Given the description of an element on the screen output the (x, y) to click on. 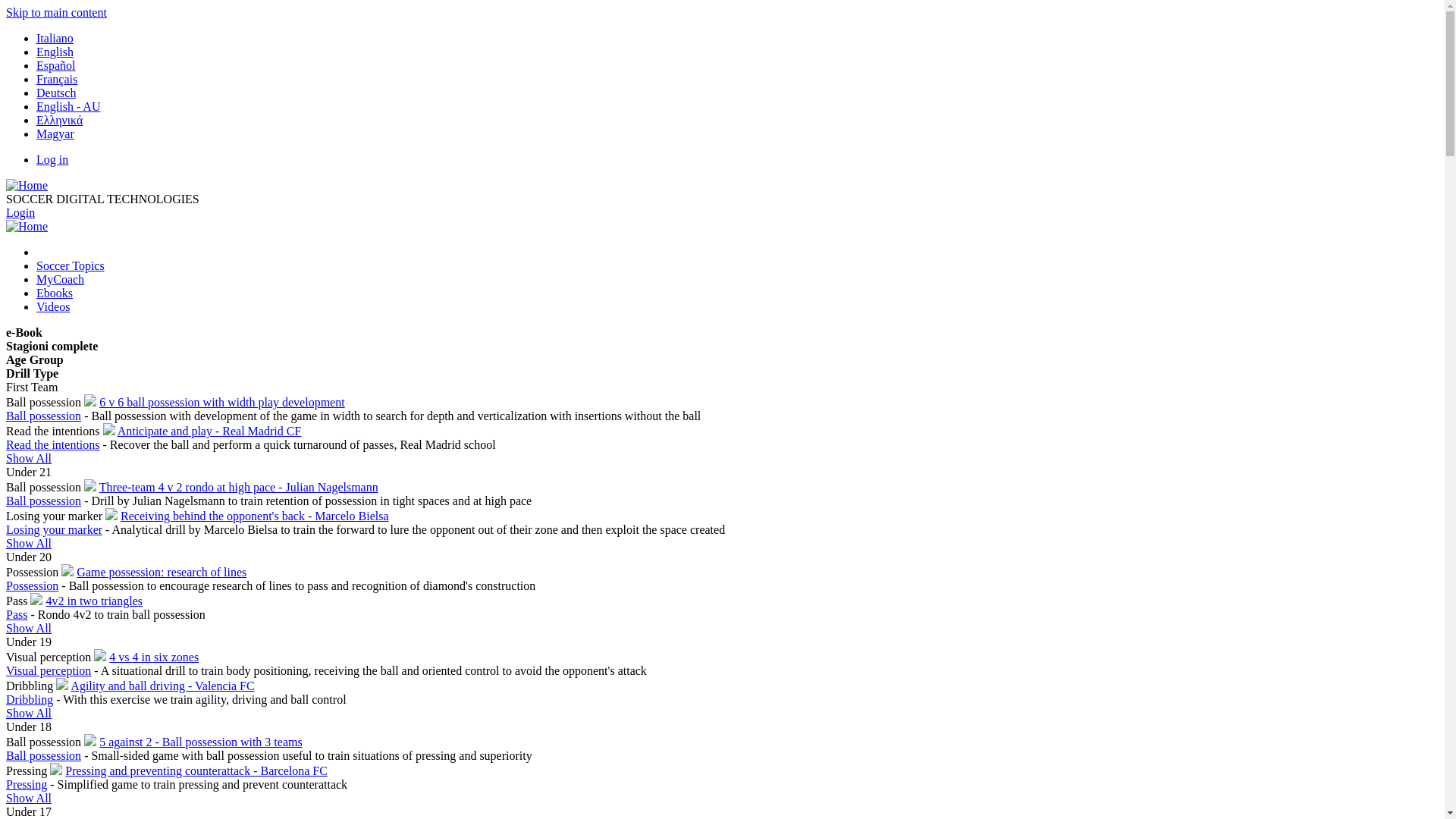
Game possession: research of lines Element type: text (161, 571)
Ball possession Element type: text (43, 755)
4 vs 4 in six zones Element type: text (153, 656)
Pressing Element type: text (26, 784)
Read the intentions Element type: text (53, 444)
Show All Element type: text (28, 797)
English Element type: text (54, 51)
Pass Element type: text (16, 614)
6 v 6 ball possession with width play development Element type: text (222, 401)
MyCoach Element type: text (60, 279)
Home Element type: hover (26, 184)
Home Element type: hover (26, 225)
Three-team 4 v 2 rondo at high pace - Julian Nagelsmann Element type: text (238, 486)
Agility and ball driving - Valencia FC Element type: text (162, 685)
Ball possession Element type: text (43, 500)
Magyar Element type: text (55, 133)
Visual perception Element type: text (48, 670)
Possession Element type: text (32, 585)
Ball possession Element type: text (43, 415)
4v2 in two triangles Element type: text (93, 600)
English - AU Element type: text (68, 106)
Login Element type: text (20, 212)
Videos Element type: text (52, 306)
Pressing and preventing counterattack - Barcelona FC Element type: text (196, 770)
Deutsch Element type: text (55, 92)
Show All Element type: text (28, 542)
Dribbling Element type: text (29, 699)
Losing your marker Element type: text (54, 529)
Receiving behind the opponent's back - Marcelo Bielsa Element type: text (254, 515)
Ebooks Element type: text (54, 292)
Soccer Topics Element type: text (70, 265)
Anticipate and play - Real Madrid CF Element type: text (209, 430)
Show All Element type: text (28, 627)
5 against 2 - Ball possession with 3 teams Element type: text (200, 741)
Skip to main content Element type: text (56, 12)
Log in Element type: text (52, 159)
Show All Element type: text (28, 712)
Show All Element type: text (28, 457)
Italiano Element type: text (54, 37)
